Given the description of an element on the screen output the (x, y) to click on. 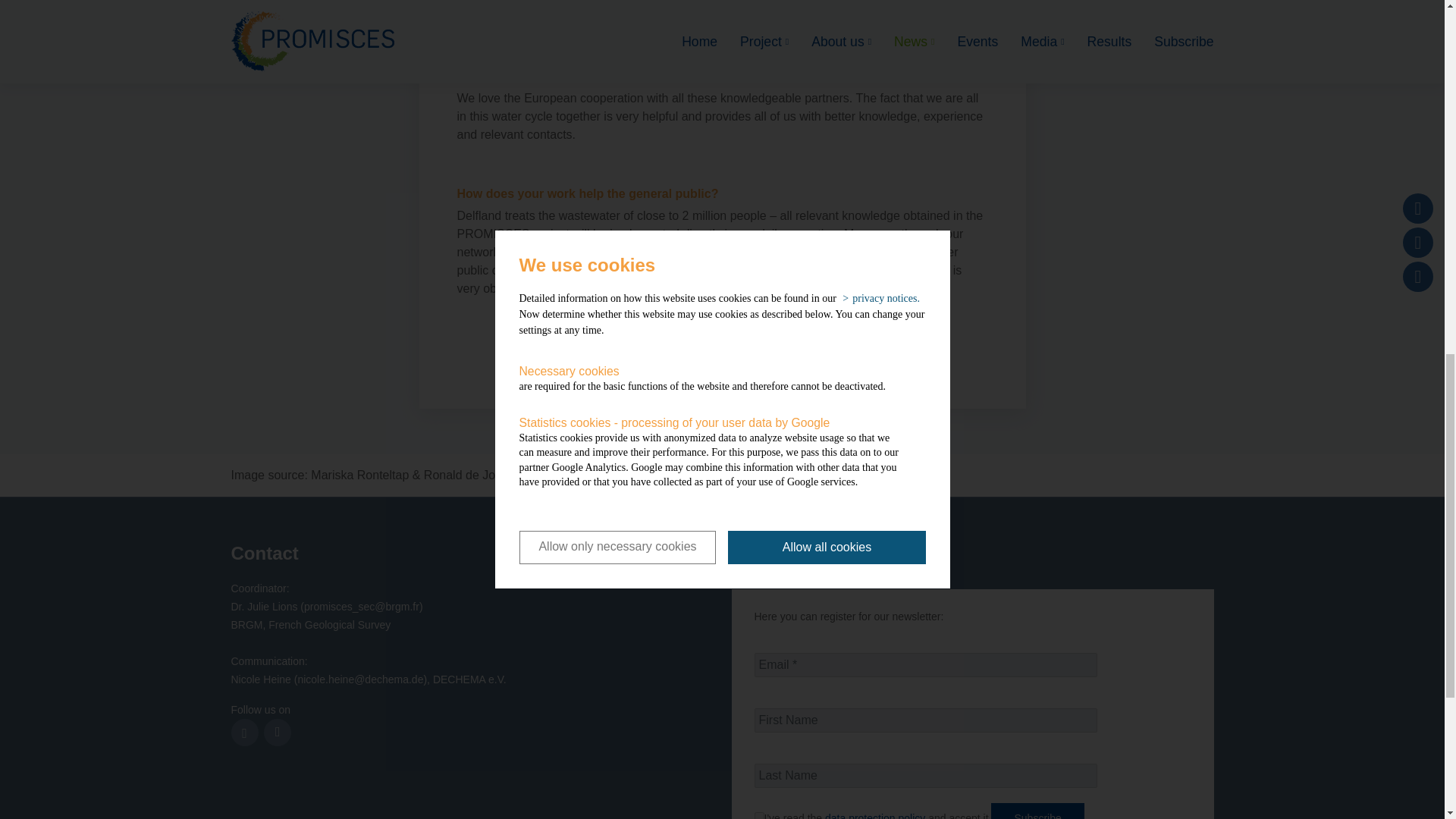
data protection policy (874, 815)
Subscribe (1037, 811)
